Given the description of an element on the screen output the (x, y) to click on. 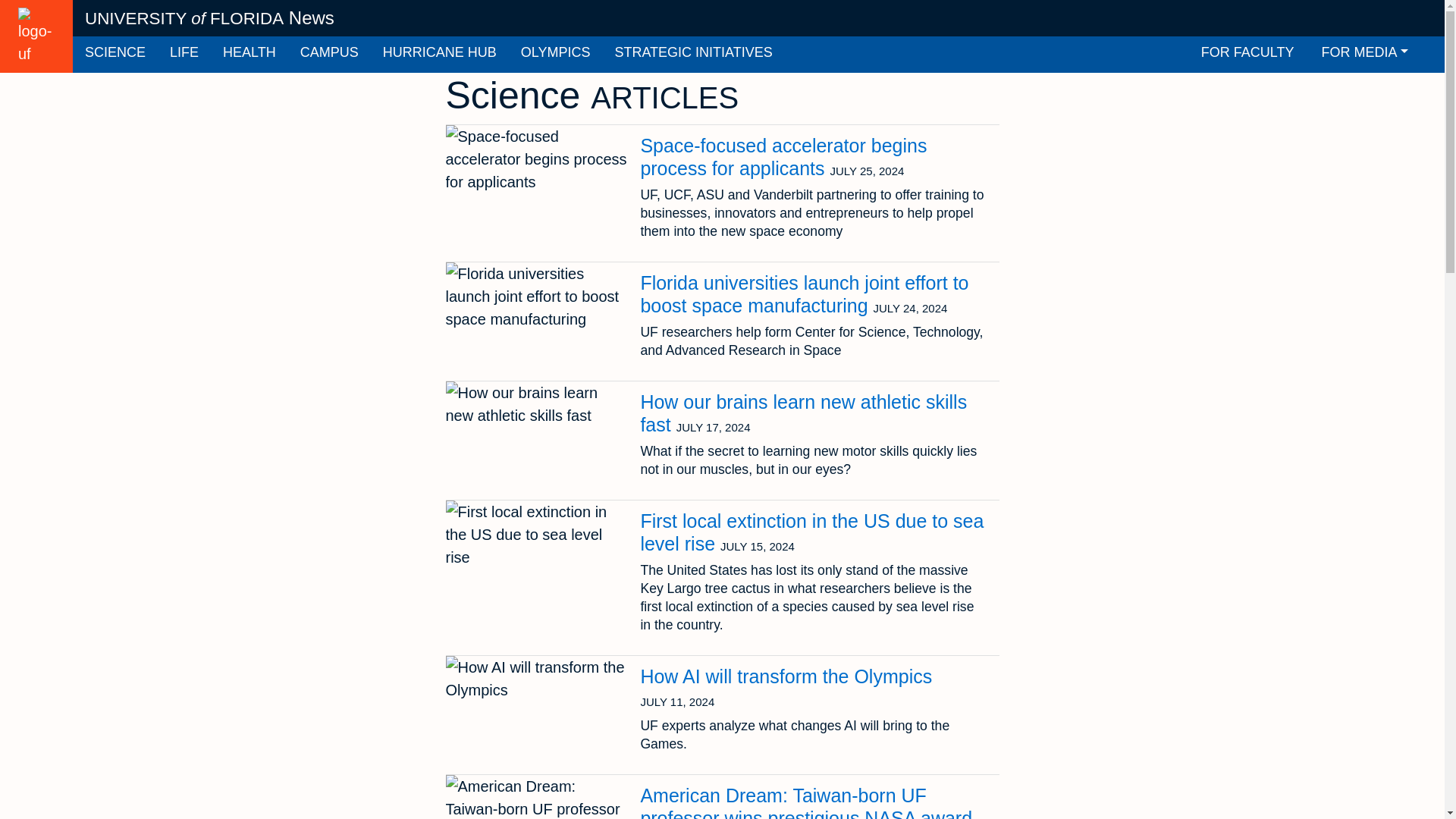
FOR FACULTY (1247, 54)
Space-focused accelerator begins process for applicants (783, 157)
CAMPUS (329, 54)
HURRICANE HUB (439, 54)
SCIENCE (114, 54)
LIFE (184, 54)
STRATEGIC INITIATIVES (693, 54)
How AI will transform the Olympics (785, 676)
OLYMPICS (555, 54)
FOR MEDIA (1364, 54)
HEALTH (249, 54)
First local extinction in the US due to sea level rise (812, 532)
UNIVERSITY of FLORIDA News (209, 18)
